Given the description of an element on the screen output the (x, y) to click on. 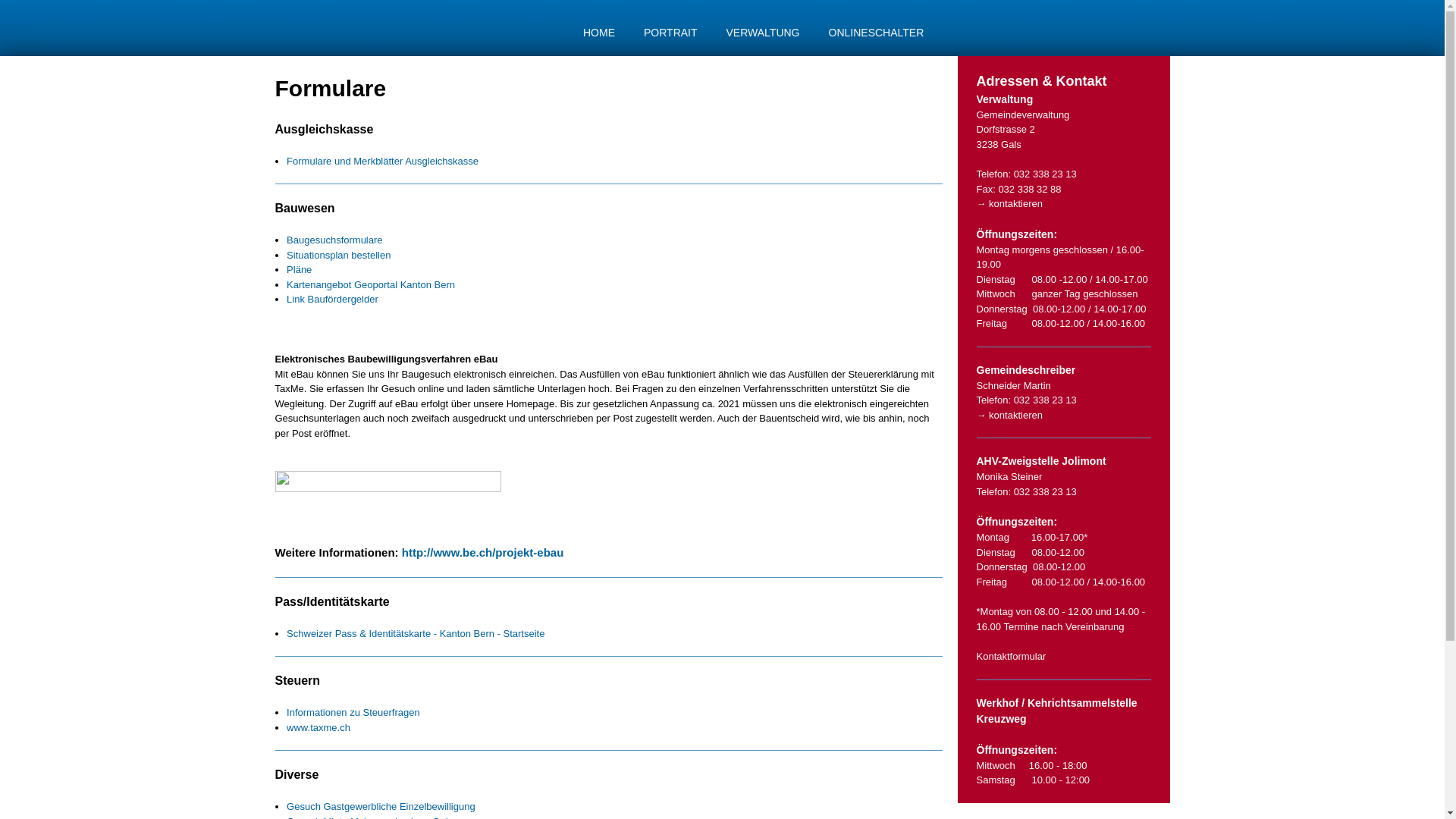
Gesuch Gastgewerbliche Einzelbewilligung Element type: text (380, 806)
Situationsplan bestellen Element type: text (338, 254)
Informationen zu Steuerfragen Element type: text (353, 712)
Kontaktformular Element type: text (1011, 656)
ONLINESCHALTER Element type: text (876, 32)
PORTRAIT Element type: text (670, 32)
Kartenangebot Geoportal Kanton Bern Element type: text (370, 284)
VERWALTUNG Element type: text (763, 32)
HOME Element type: text (599, 32)
Direkt zum Inhalt Element type: text (690, 1)
http://www.be.ch/projekt-ebau Element type: text (482, 552)
www.taxme.ch Element type: text (318, 727)
Baugesuchsformulare Element type: text (334, 239)
